Given the description of an element on the screen output the (x, y) to click on. 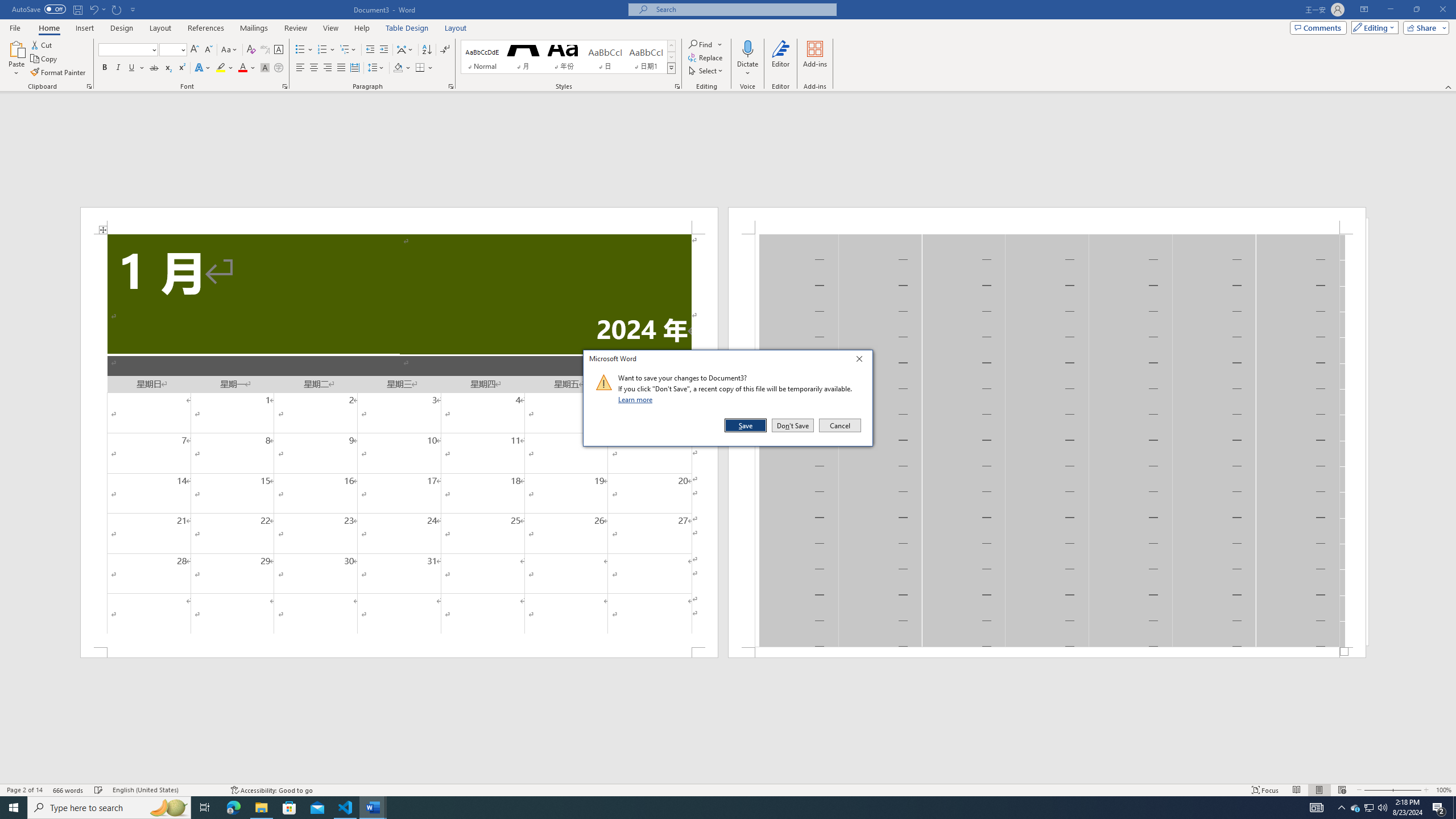
Increase Indent (383, 49)
Learn more (636, 399)
Start (13, 807)
Asian Layout (405, 49)
Bold (104, 67)
Microsoft Store (289, 807)
Cancel (839, 425)
Cut (42, 44)
